Given the description of an element on the screen output the (x, y) to click on. 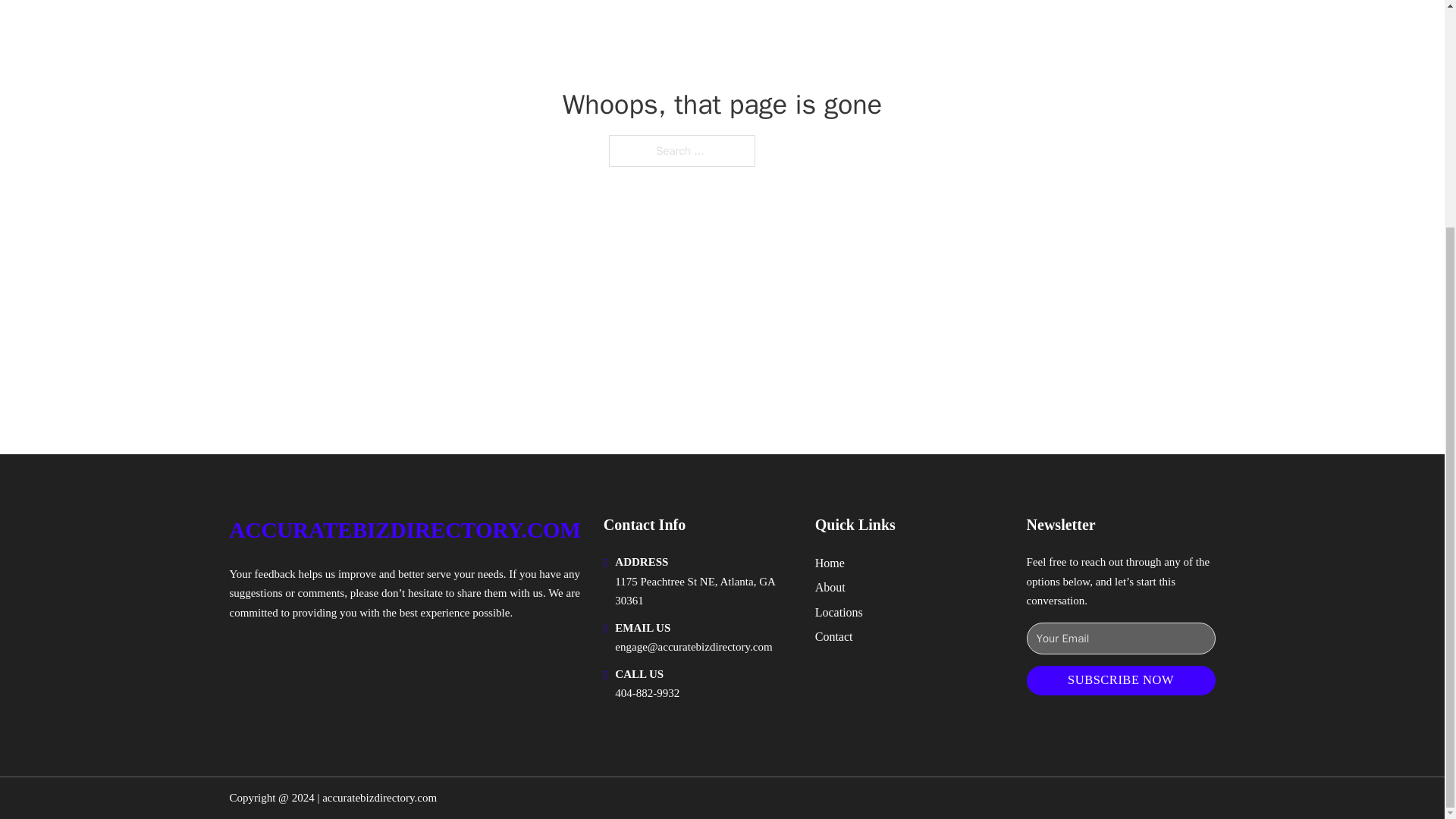
Locations (839, 611)
About (830, 587)
Home (829, 562)
Contact (834, 636)
404-882-9932 (646, 693)
ACCURATEBIZDIRECTORY.COM (403, 529)
SUBSCRIBE NOW (1120, 680)
